Given the description of an element on the screen output the (x, y) to click on. 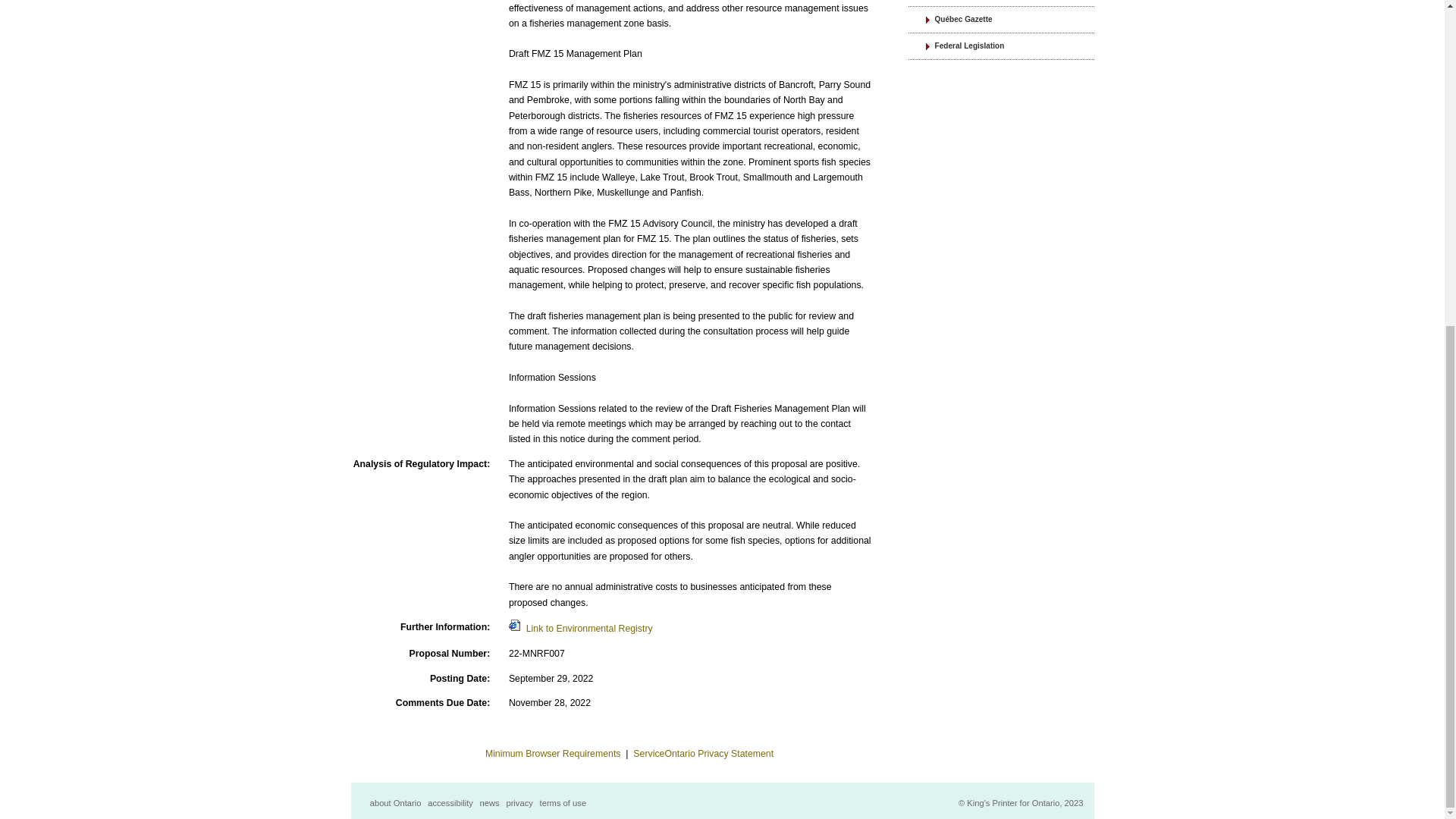
This link will open in a new window (1001, 46)
Minimum Browser Requirements (552, 753)
  Link to Environmental Registry (580, 628)
This link will open in a new window (1001, 3)
This link will open in a new window (703, 753)
ServiceOntario Privacy Statement (703, 753)
This link will open in a new window (580, 628)
This link will open in a new window (552, 753)
